Given the description of an element on the screen output the (x, y) to click on. 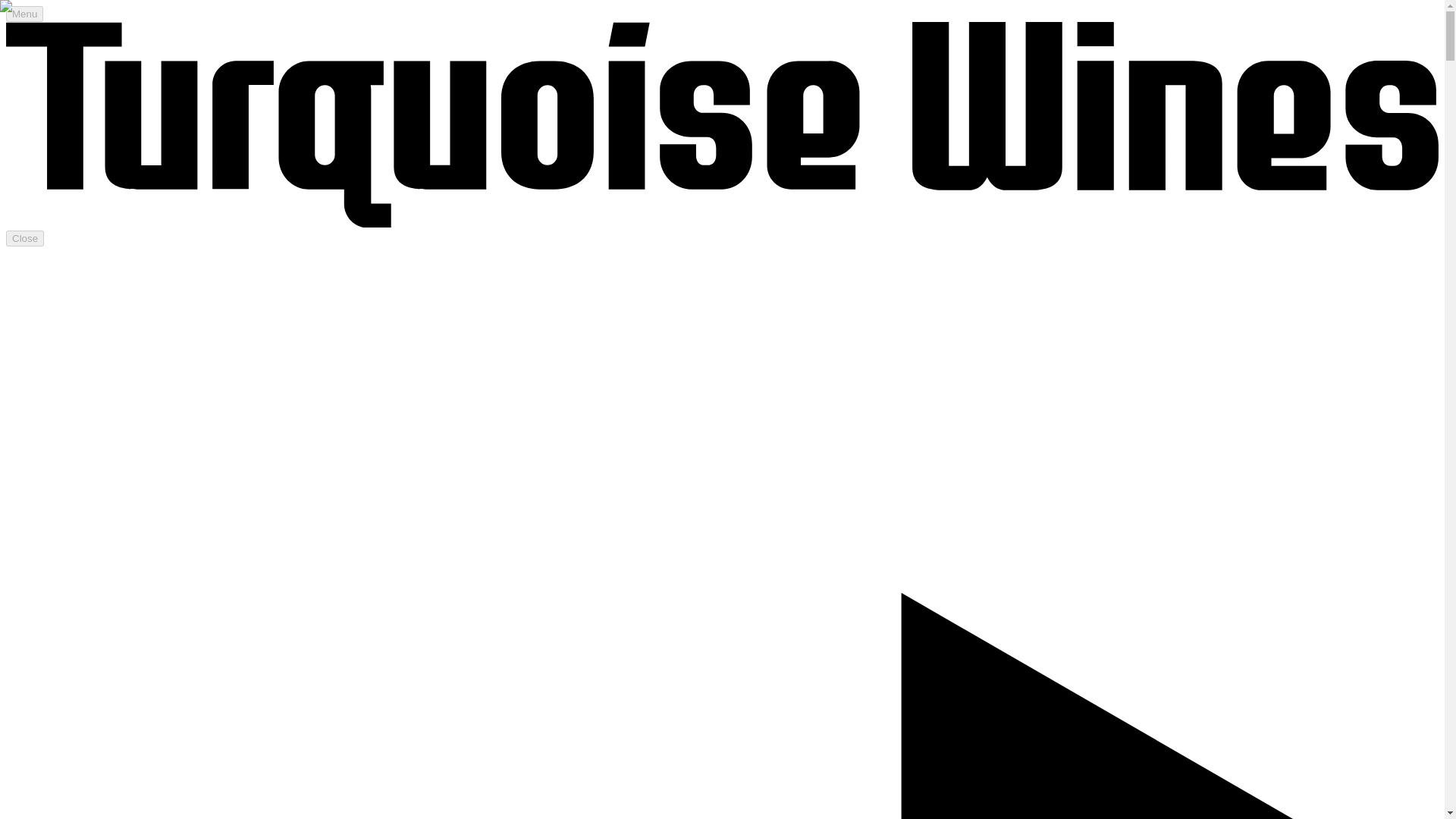
Close (24, 238)
Menu (24, 13)
